Given the description of an element on the screen output the (x, y) to click on. 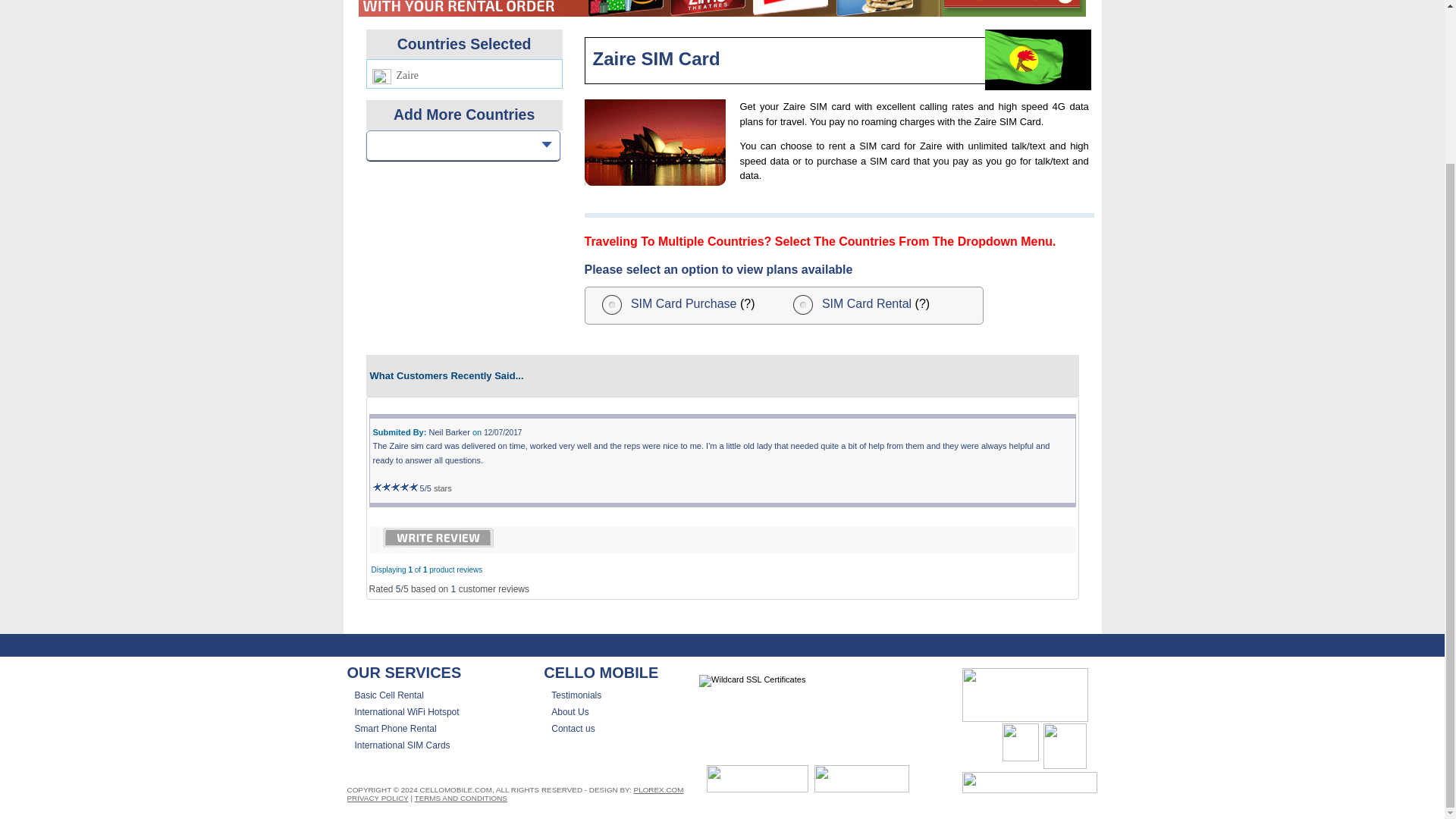
Testimonials (576, 695)
Write Review (437, 537)
Zaire (1037, 59)
PLOREX.COM (658, 789)
Zaire (654, 142)
Free Gift Card (721, 8)
PRIVACY POLICY (378, 797)
Contact us (572, 728)
Smart Phone Rental (395, 728)
International WiFi Hotspot (407, 711)
SSL Certificate (751, 680)
International SIM Cards (402, 745)
TERMS AND CONDITIONS (460, 797)
About Us (569, 711)
Basic Cell Rental (389, 695)
